Given the description of an element on the screen output the (x, y) to click on. 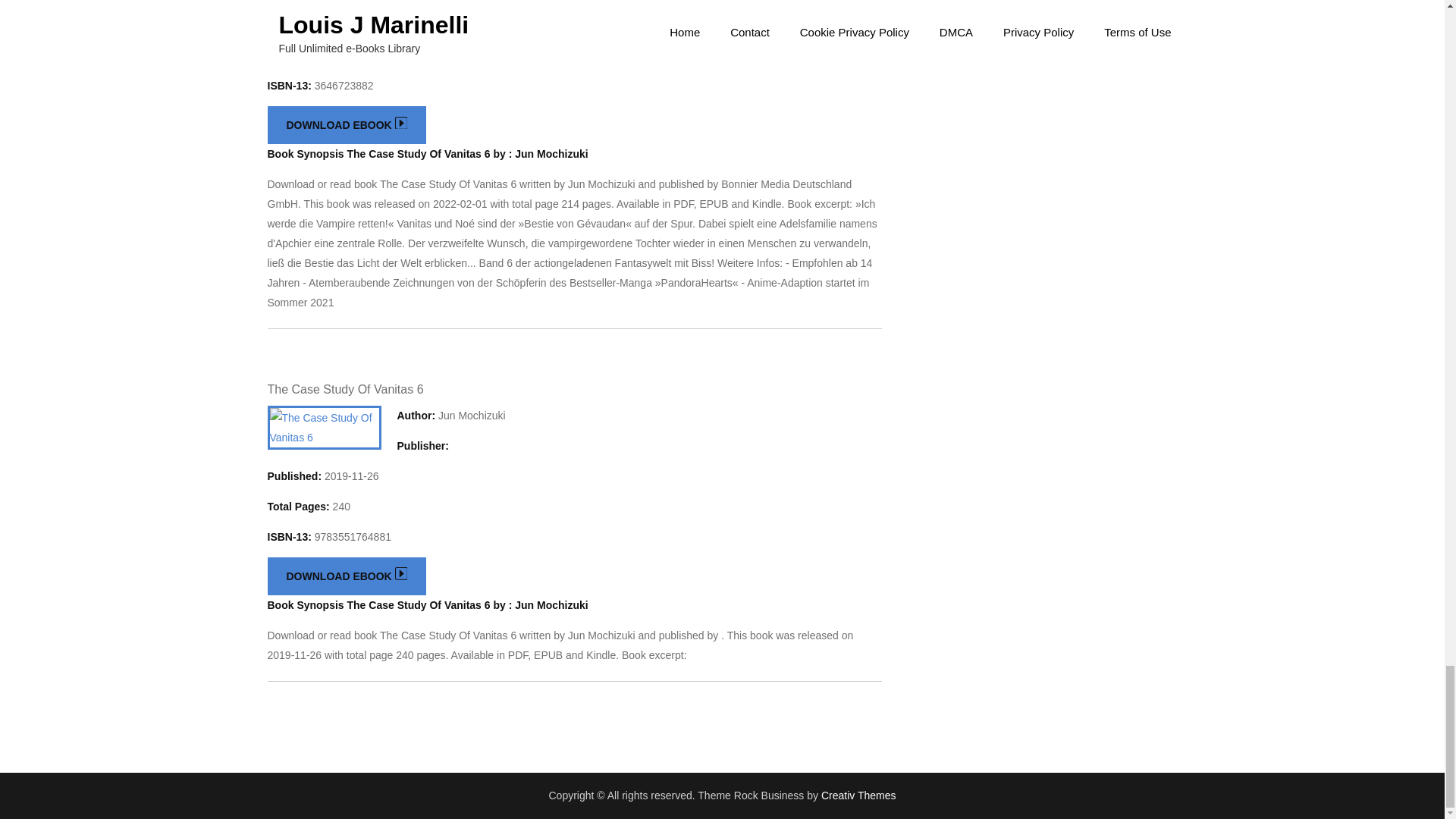
DOWNLOAD EBOOK (346, 125)
The Case Study Of Vanitas 6 (344, 389)
DOWNLOAD EBOOK (346, 576)
